Given the description of an element on the screen output the (x, y) to click on. 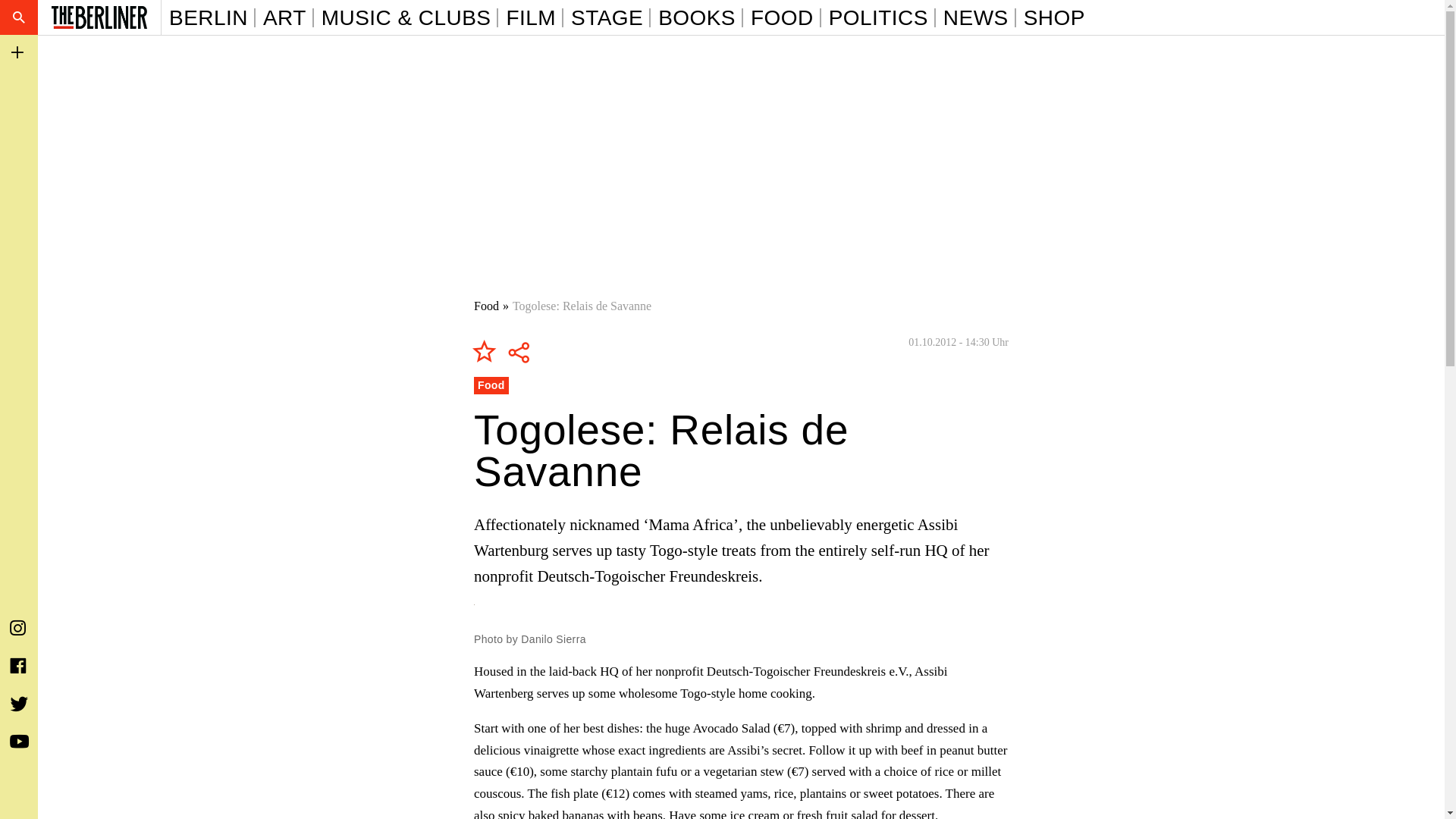
Food (486, 305)
FILM (534, 16)
STAGE (610, 16)
News (979, 16)
Books (700, 16)
Berlin (212, 16)
BOOKS (700, 16)
Shop (1053, 16)
Stage (610, 16)
FOOD (786, 16)
